Given the description of an element on the screen output the (x, y) to click on. 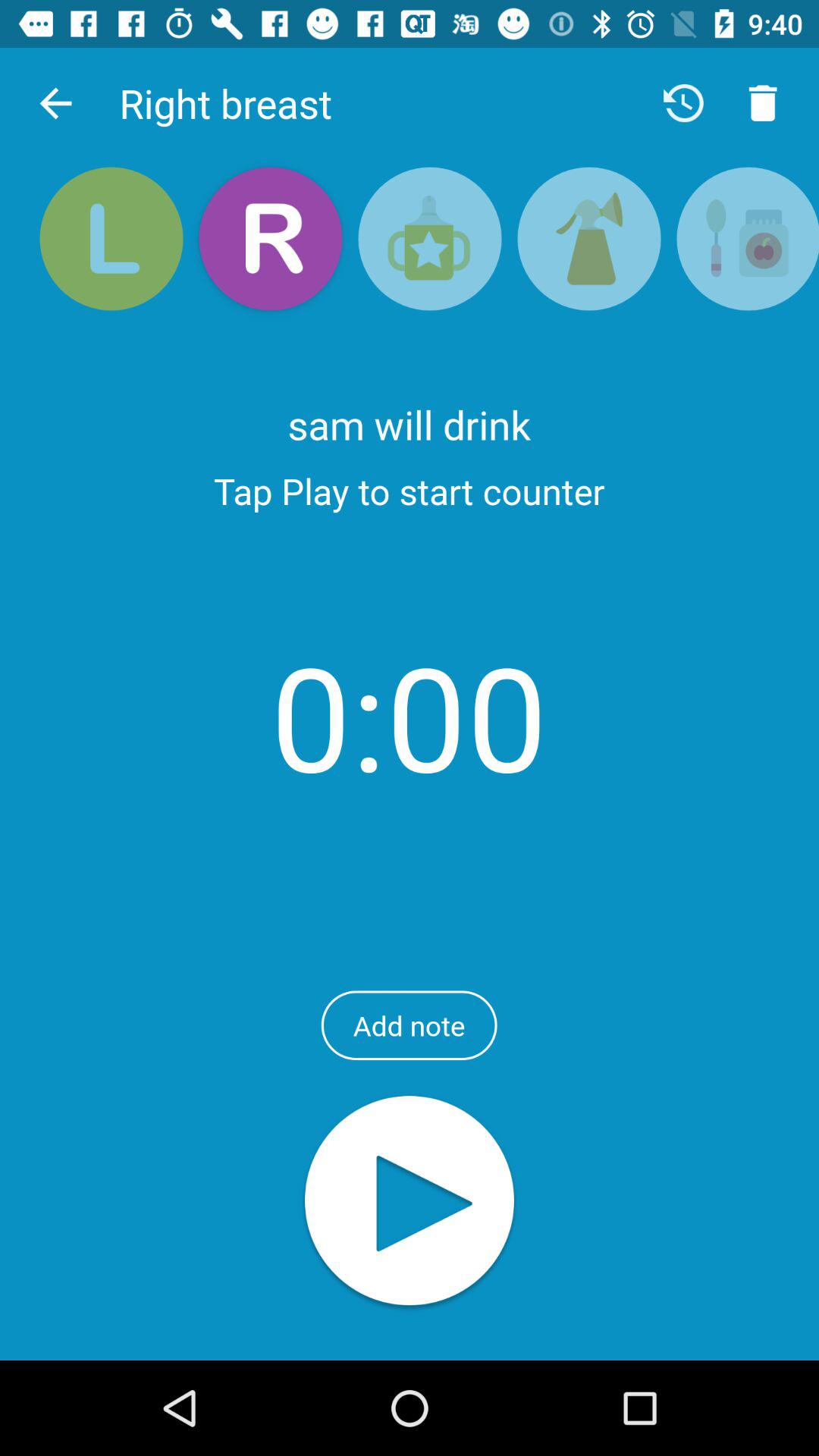
turn off item above the add note icon (408, 715)
